Given the description of an element on the screen output the (x, y) to click on. 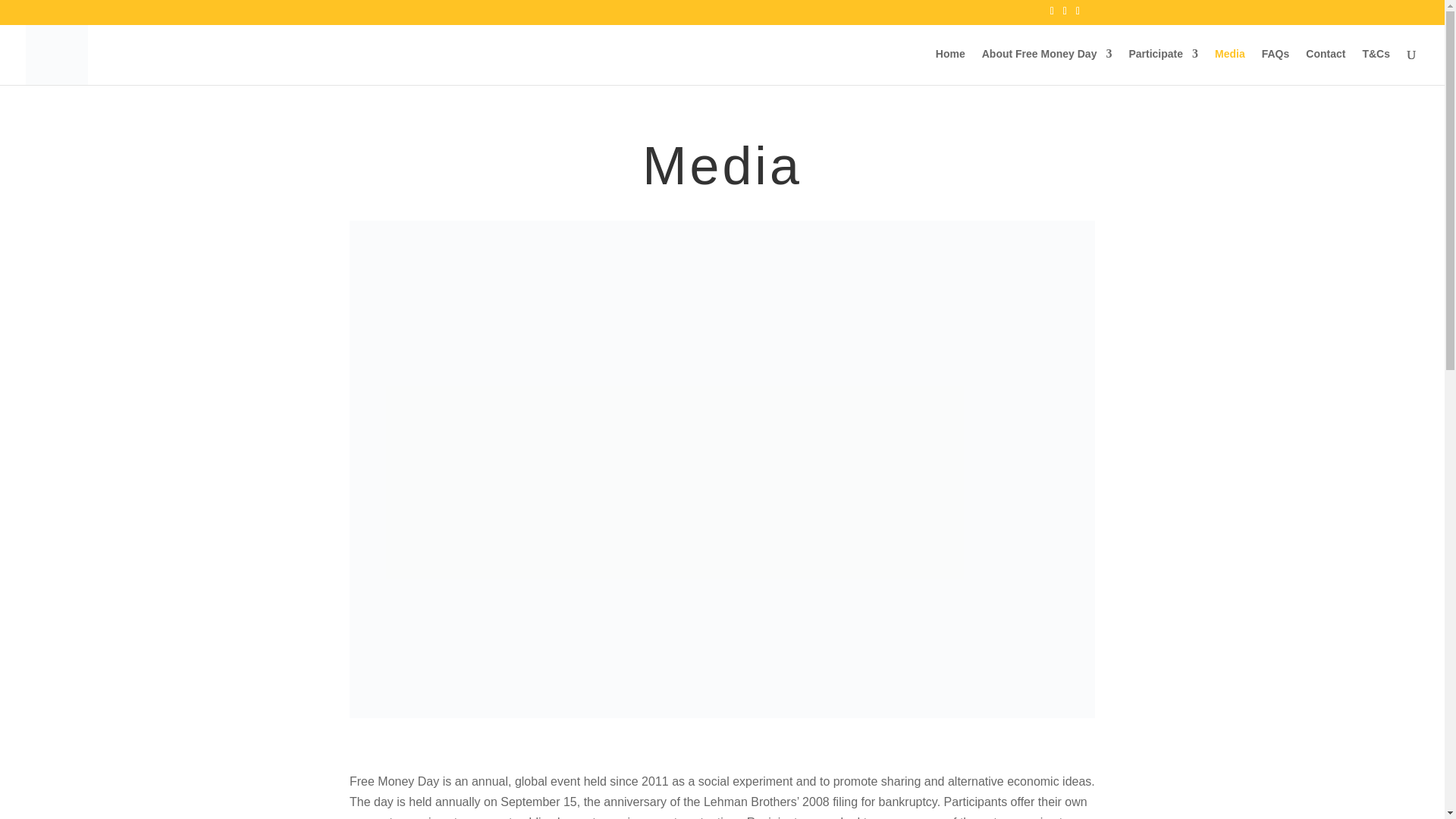
About Free Money Day (1046, 66)
Contact (1325, 66)
Participate (1163, 66)
